Given the description of an element on the screen output the (x, y) to click on. 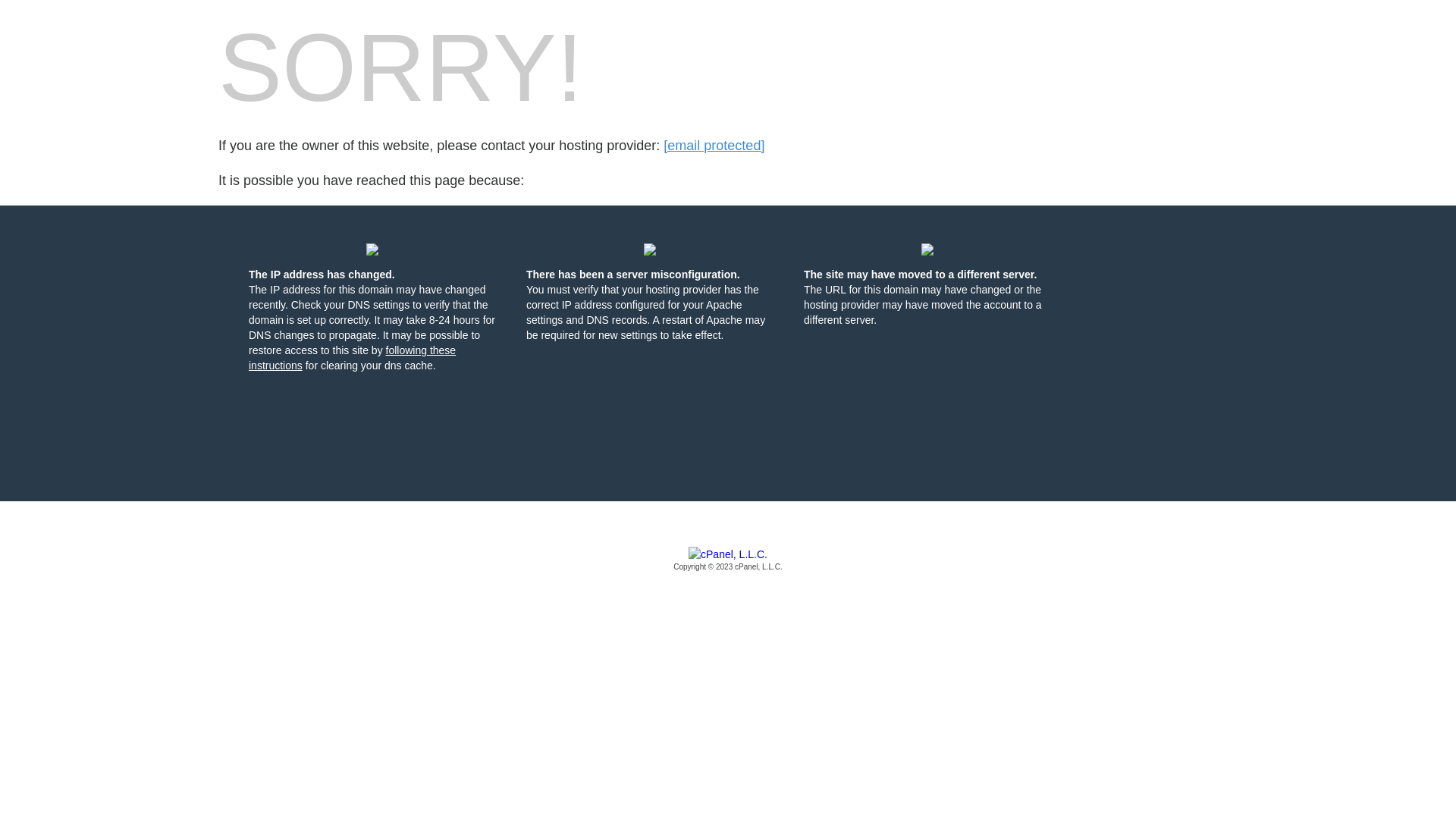
[email protected] Element type: text (713, 145)
following these instructions Element type: text (351, 357)
